Given the description of an element on the screen output the (x, y) to click on. 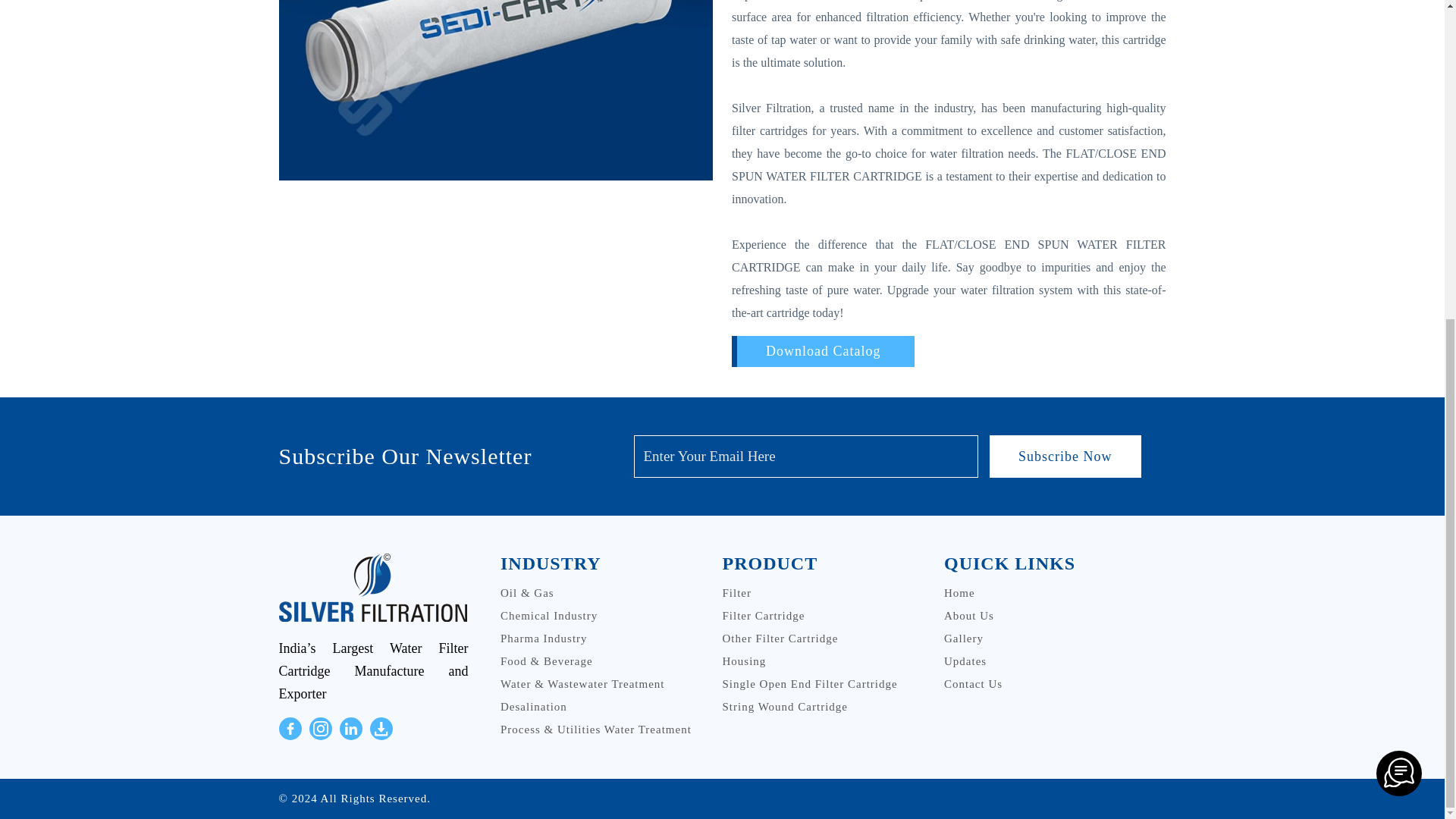
Enter Your Email Here (805, 455)
Pharma Industry (544, 638)
Download Catalog (823, 350)
Desalination (533, 706)
Chemical Industry (548, 615)
Subscribe Now (1065, 455)
Silver Filtration (1398, 256)
